Given the description of an element on the screen output the (x, y) to click on. 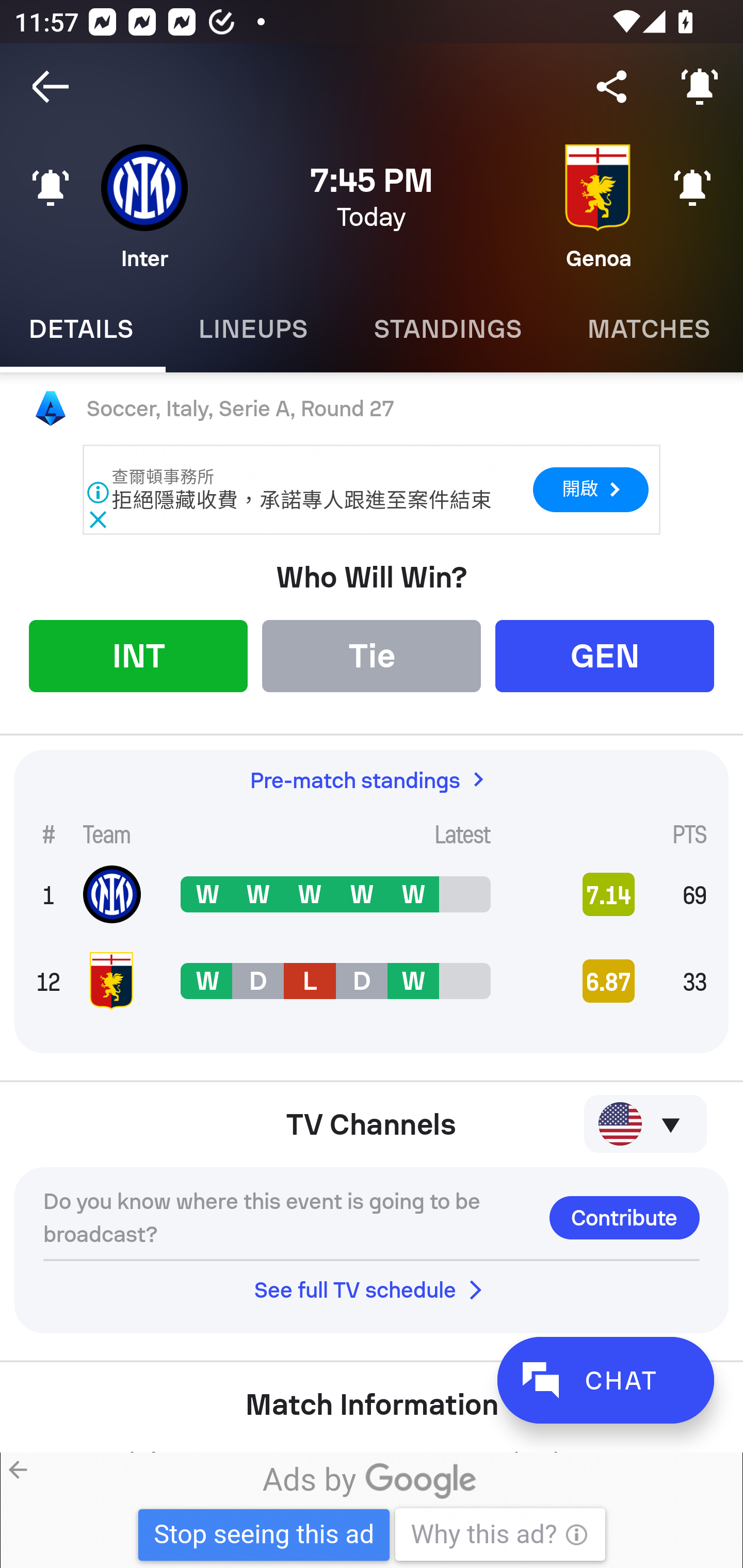
Navigate up (50, 86)
Lineups LINEUPS (252, 329)
Standings STANDINGS (447, 329)
Matches MATCHES (648, 329)
Soccer, Italy, Serie A, Round 27 (371, 409)
查爾頓事務所 (163, 476)
開啟 (590, 488)
拒絕隱藏收費，承諾專人跟進至案件結束 (301, 499)
INT (137, 655)
Tie (371, 655)
GEN (604, 655)
Contribute (624, 1217)
See full TV schedule (371, 1289)
CHAT (605, 1380)
